Given the description of an element on the screen output the (x, y) to click on. 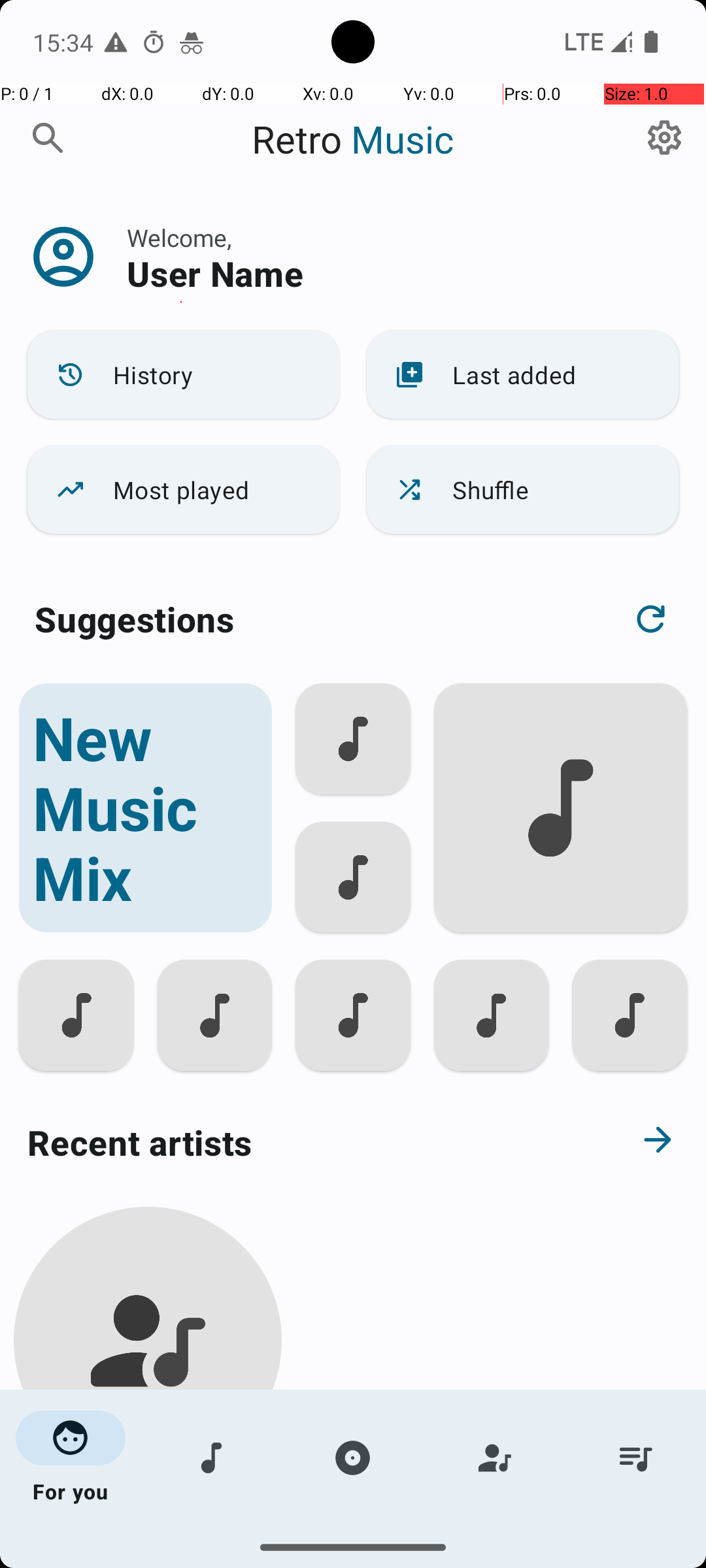
Retro Music Element type: android.widget.TextView (352, 138)
For you Element type: android.widget.FrameLayout (70, 1457)
Songs Element type: android.widget.FrameLayout (211, 1457)
Albums Element type: android.widget.FrameLayout (352, 1457)
Artists Element type: android.widget.FrameLayout (493, 1457)
Playlists Element type: android.widget.FrameLayout (635, 1457)
Welcome, Element type: android.widget.TextView (179, 237)
User Name Element type: android.widget.TextView (214, 273)
Last added Element type: android.widget.Button (522, 374)
Most played Element type: android.widget.Button (183, 489)
Shuffle Element type: android.widget.Button (522, 489)
Suggestions Element type: android.widget.TextView (134, 618)
New Music Mix Element type: android.widget.TextView (144, 807)
Recent artists Element type: android.widget.TextView (304, 1141)
Recent albums Element type: android.widget.TextView (304, 1557)
Alejandro Element type: android.widget.TextView (147, 1503)
